Given the description of an element on the screen output the (x, y) to click on. 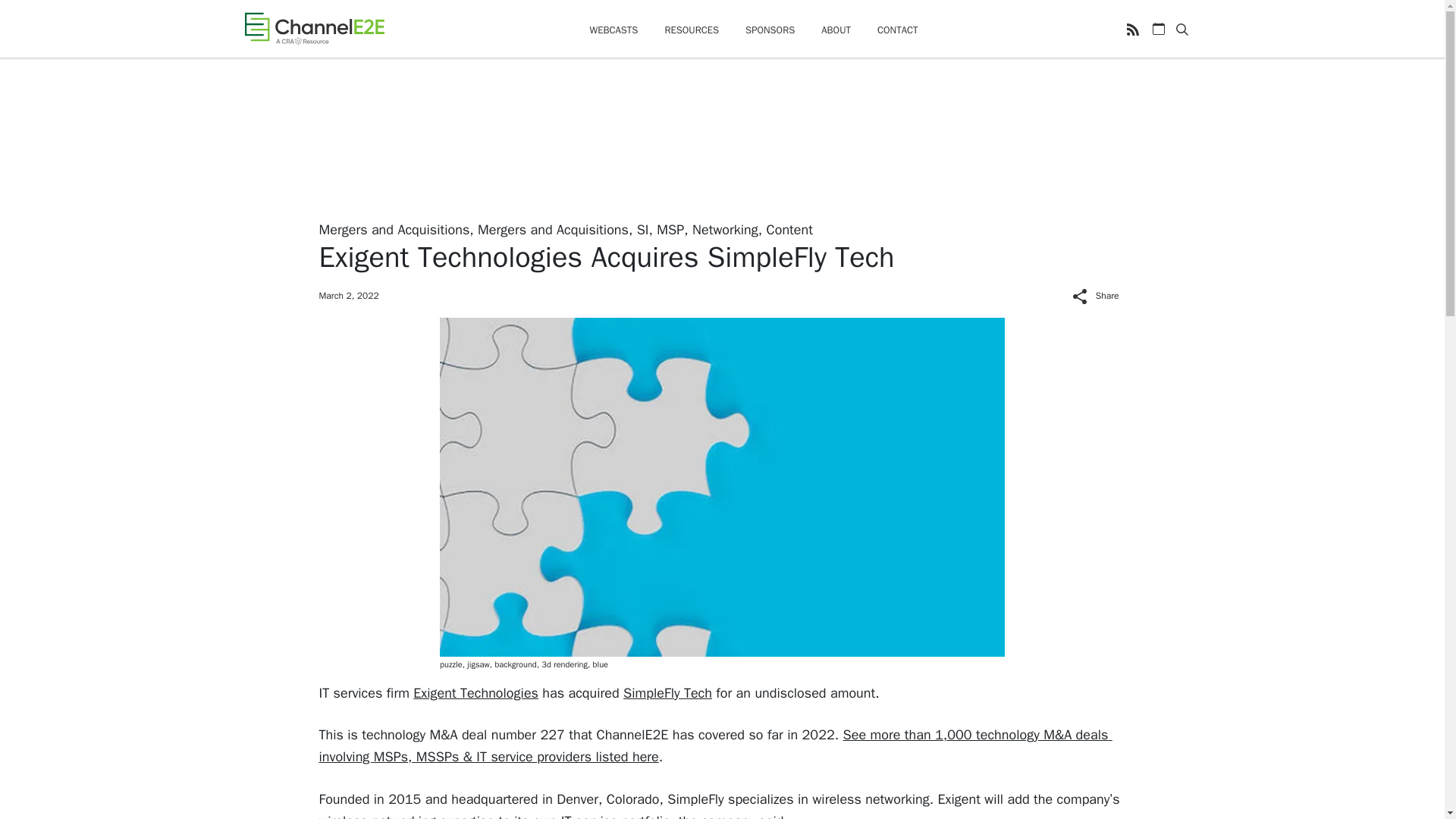
CONTACT (897, 30)
Exigent Technologies (475, 692)
SimpleFly Tech (667, 692)
Mergers and Acquisitions (393, 229)
ABOUT (835, 30)
ChannelE2E (314, 27)
View Cybersecurity Conference Calendar (1158, 28)
MSP (670, 229)
WEBCASTS (613, 30)
Content (789, 229)
SPONSORS (769, 30)
Mergers and Acquisitions (552, 229)
RESOURCES (691, 30)
Networking (725, 229)
